Given the description of an element on the screen output the (x, y) to click on. 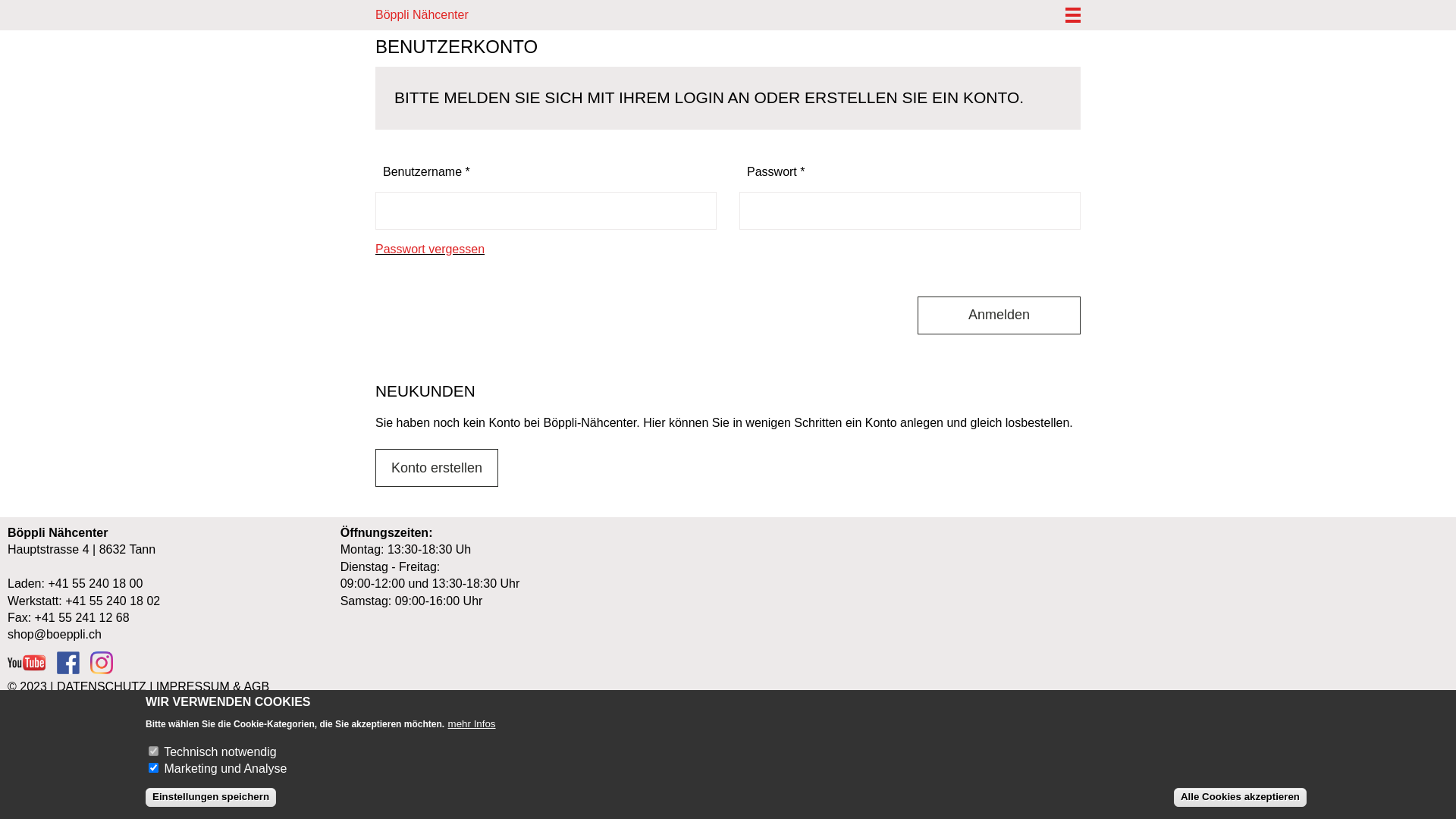
Instagram Page Element type: hover (101, 669)
+41 55 240 18 02 Element type: text (112, 600)
+41 55 241 12 68 Element type: text (81, 617)
mehr Infos Element type: text (471, 722)
Passwort vergessen Element type: text (429, 248)
IMPRESSUM & AGB Element type: text (212, 686)
DATENSCHUTZ Element type: text (101, 686)
+41 55 240 18 00 Element type: text (94, 583)
Facebook-Page Element type: hover (67, 669)
Einstellungen speichern Element type: text (210, 796)
Konto erstellen Element type: text (436, 467)
Alle Cookies akzeptieren Element type: text (1239, 796)
Youtube Element type: hover (26, 669)
shop@boeppli.ch Element type: text (54, 633)
Anmelden Element type: text (998, 315)
